Given the description of an element on the screen output the (x, y) to click on. 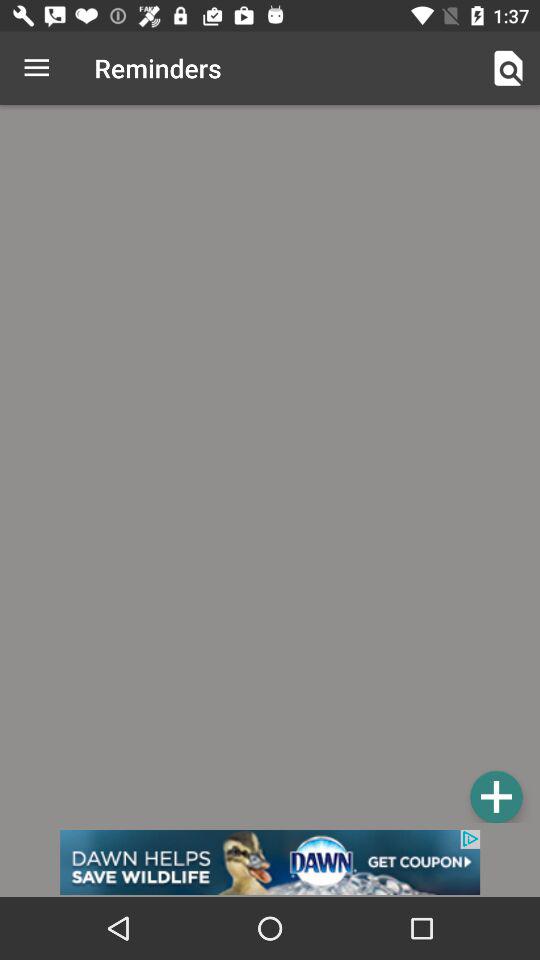
add reminder (496, 796)
